Given the description of an element on the screen output the (x, y) to click on. 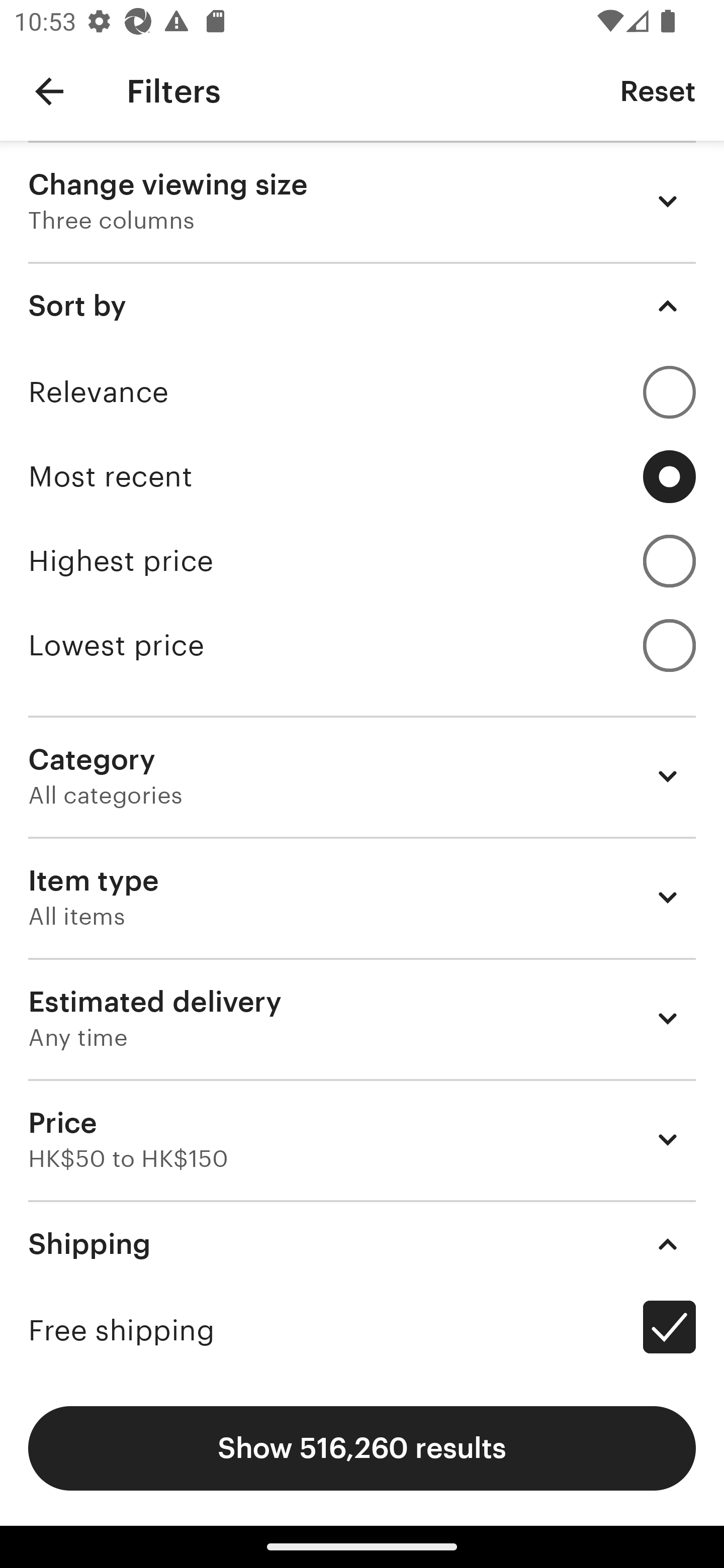
Navigate up (49, 91)
Reset (657, 90)
Change viewing size Three columns (362, 201)
Sort by (362, 305)
Relevance (362, 391)
Most recent (362, 476)
Highest price (362, 561)
Lowest price (362, 644)
Category All categories (362, 776)
Item type All items (362, 897)
Estimated delivery Any time (362, 1018)
Price HK$50 to HK$150 (362, 1138)
Shipping (362, 1243)
Free shipping (362, 1329)
Show 516,260 results Show 3,548,591 results (361, 1448)
